Given the description of an element on the screen output the (x, y) to click on. 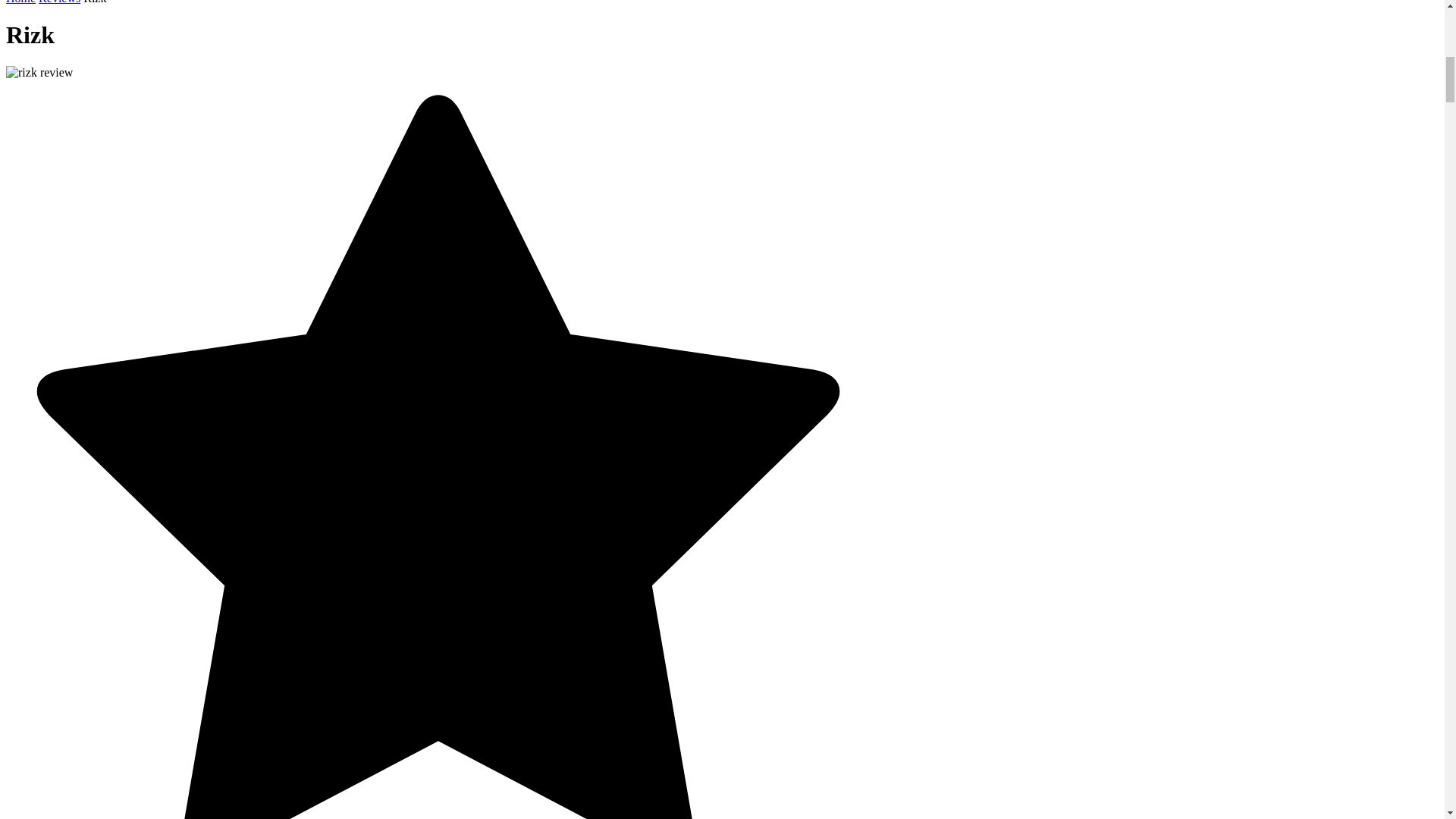
Reviews (59, 2)
Rizk (94, 2)
Home (19, 2)
